Given the description of an element on the screen output the (x, y) to click on. 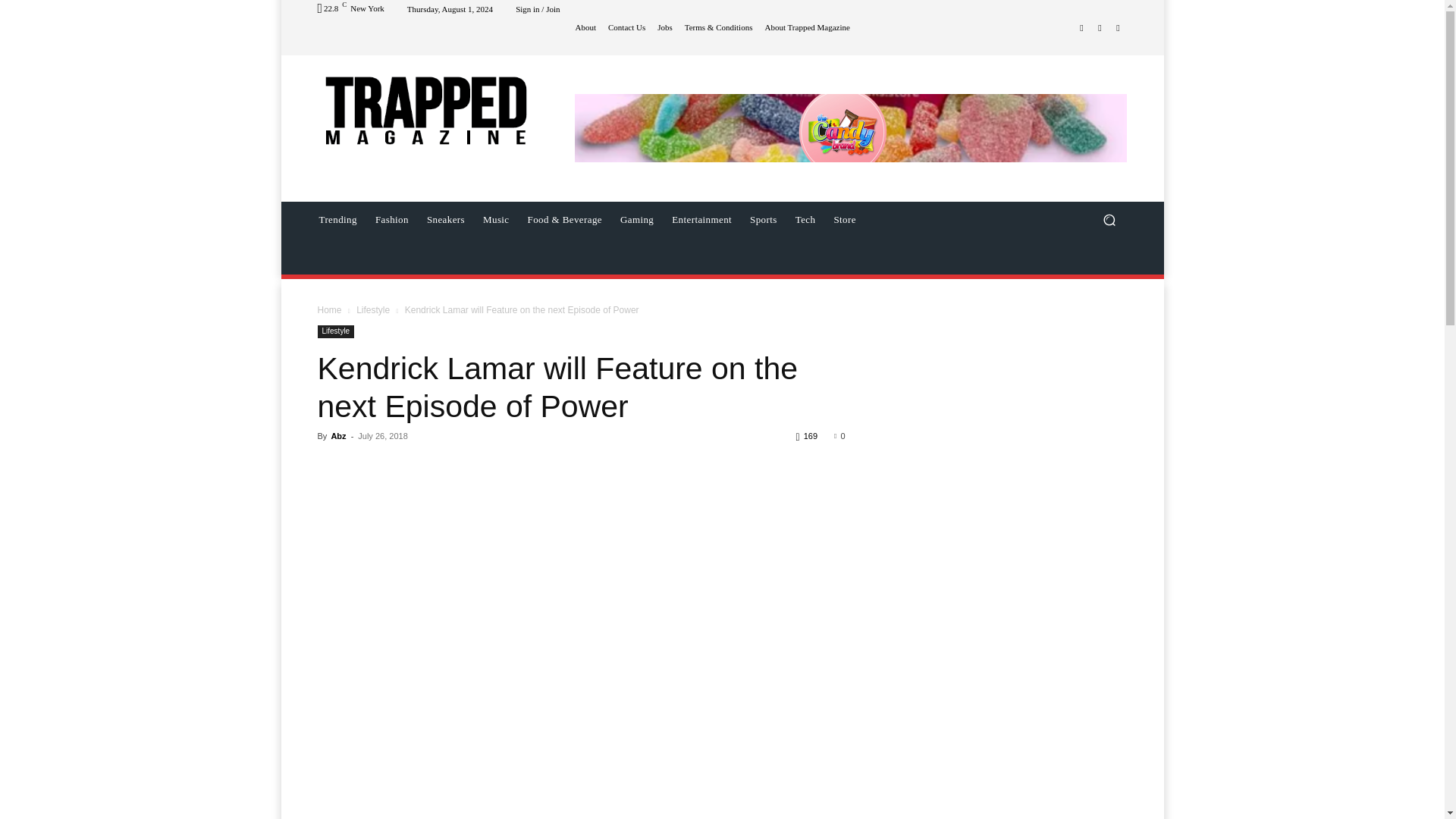
Sports (763, 219)
Instagram (1099, 27)
Music (496, 219)
Fashion (391, 219)
Gaming (636, 219)
About (583, 27)
Tech (805, 219)
Facebook (1080, 27)
Twitter (1117, 27)
Trapped Magazine (425, 109)
About Trapped Magazine (804, 27)
Trending (336, 219)
Store (844, 219)
Sneakers (445, 219)
Contact Us (625, 27)
